Given the description of an element on the screen output the (x, y) to click on. 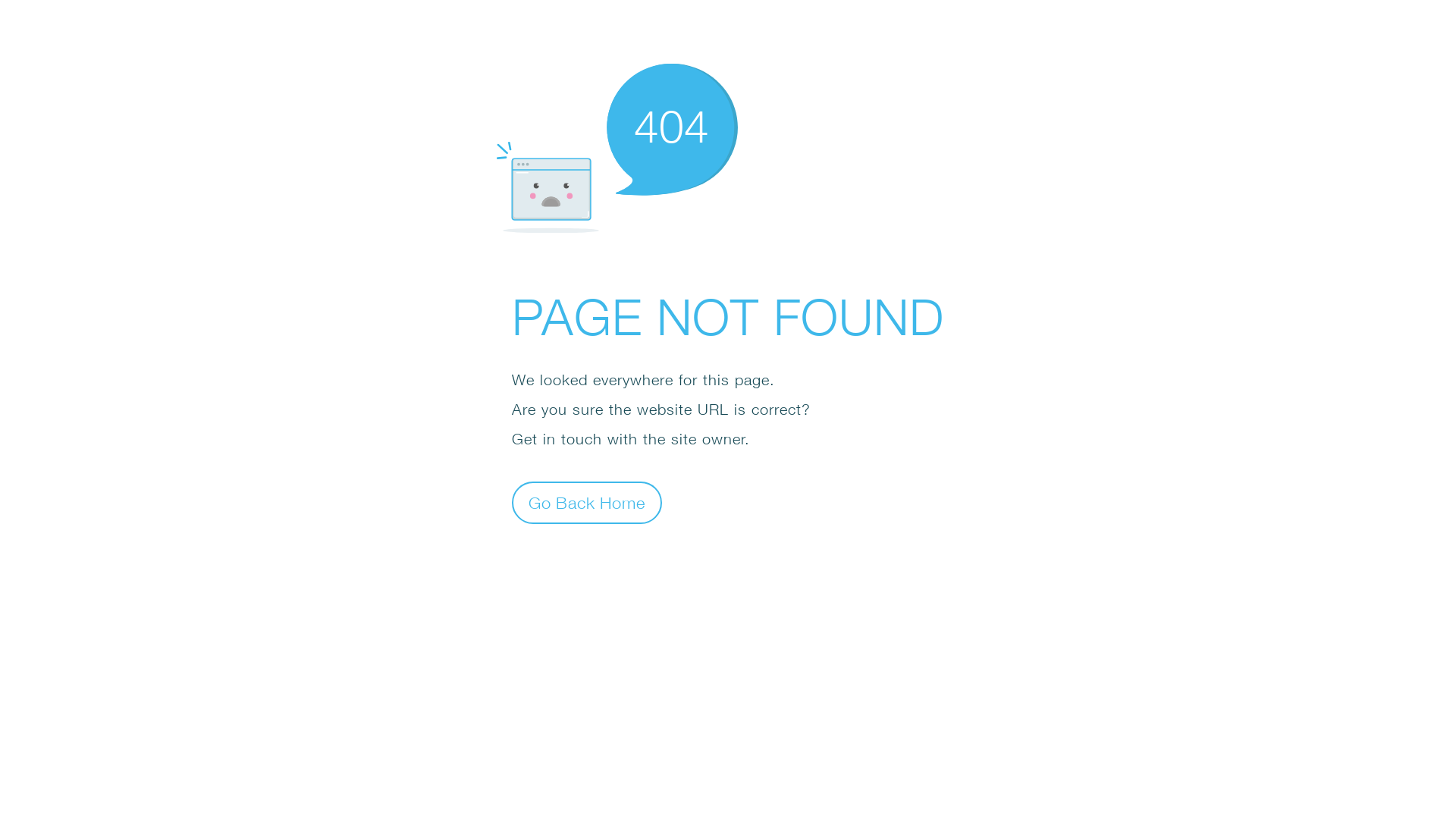
Go Back Home Element type: text (586, 502)
